Given the description of an element on the screen output the (x, y) to click on. 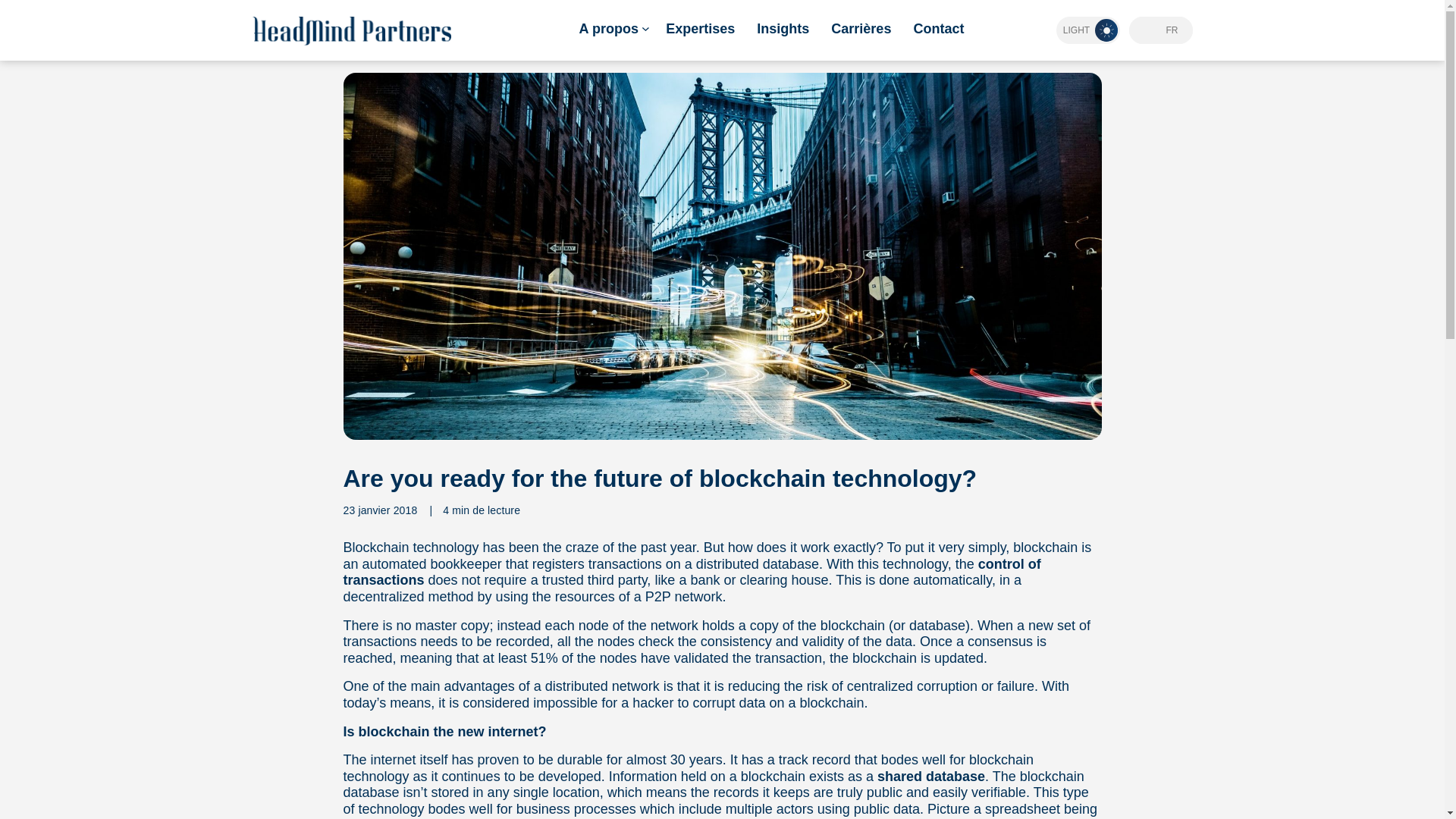
Insights (783, 30)
Contact (938, 30)
Expertises (700, 30)
A propos (611, 30)
